Given the description of an element on the screen output the (x, y) to click on. 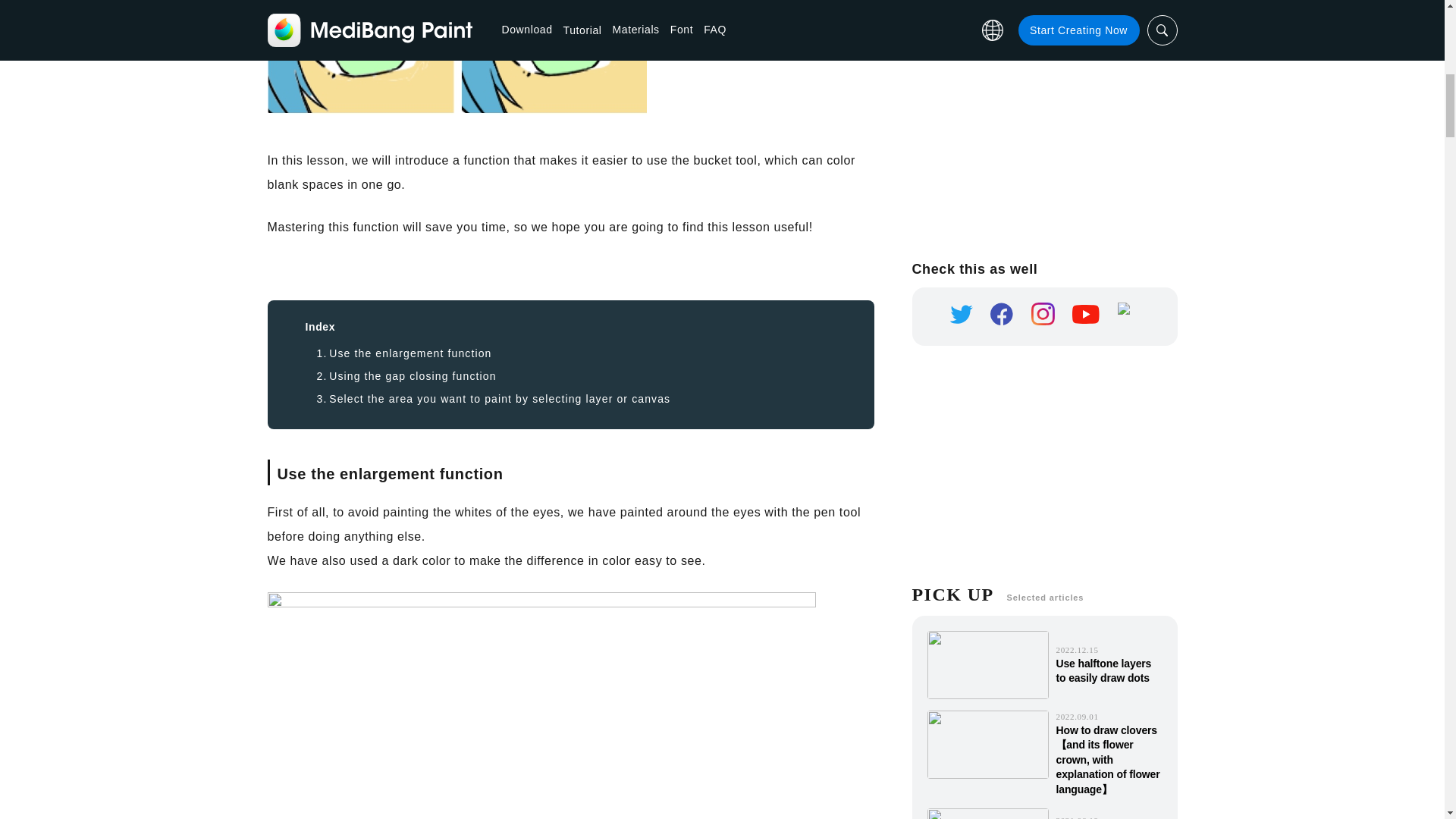
Use the enlargement function (404, 353)
Using the gap closing function (406, 376)
